Given the description of an element on the screen output the (x, y) to click on. 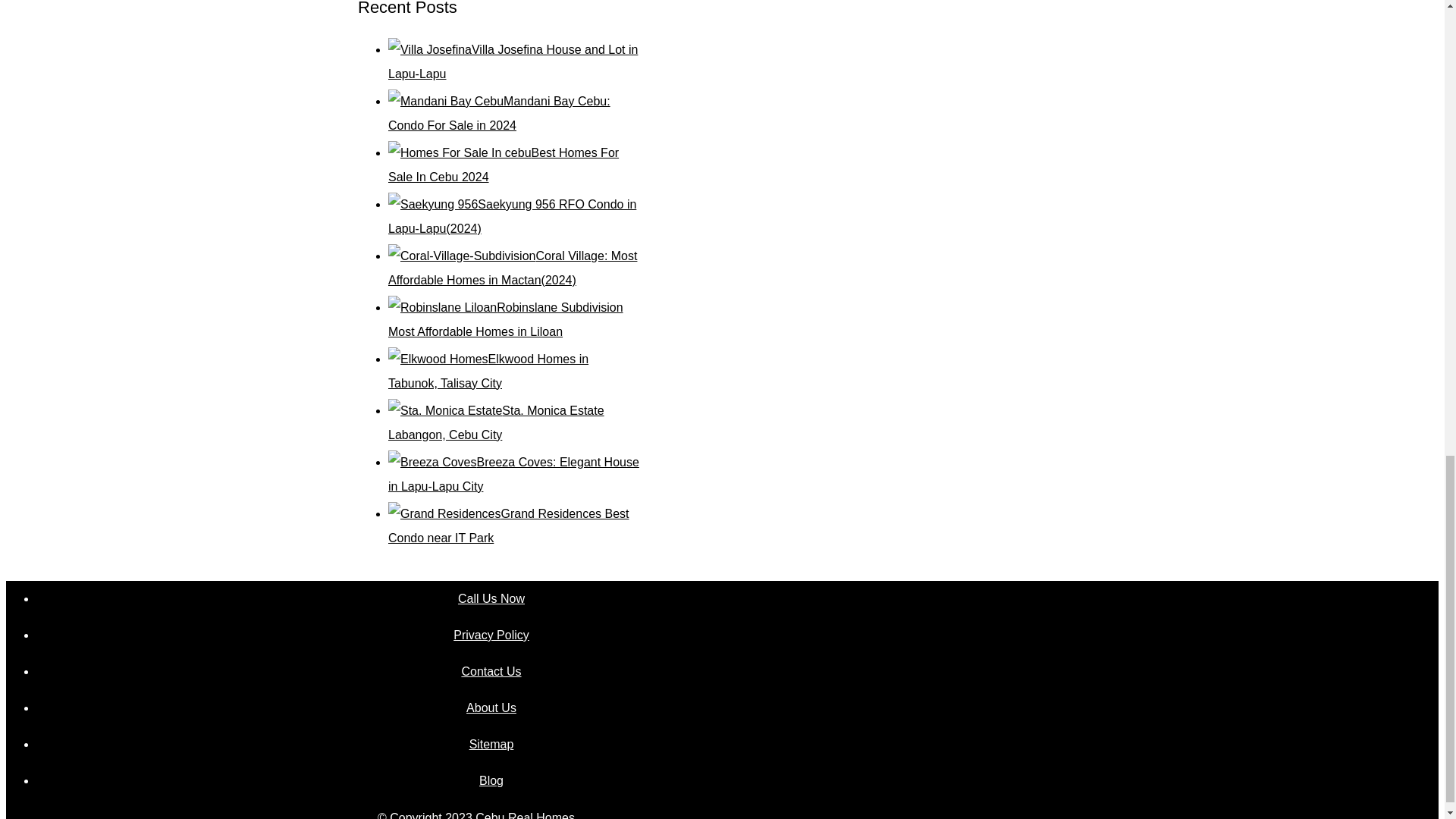
Blog (491, 780)
Villa Josefina House and Lot in Lapu-Lapu (512, 61)
Call Us Now (491, 598)
Breeza Coves: Elegant House in Lapu-Lapu City (513, 474)
Robinslane Subdivision Most Affordable Homes in Liloan (505, 319)
Privacy Policy (491, 635)
Sitemap (491, 744)
Sta. Monica Estate Labangon, Cebu City (496, 422)
Grand Residences Best Condo near IT Park (508, 525)
Best Homes For Sale In Cebu 2024 (503, 164)
About Us (491, 708)
Elkwood Homes in Tabunok, Talisay City (488, 370)
Mandani Bay Cebu: Condo For Sale in 2024 (499, 113)
Contact Us (491, 671)
